Given the description of an element on the screen output the (x, y) to click on. 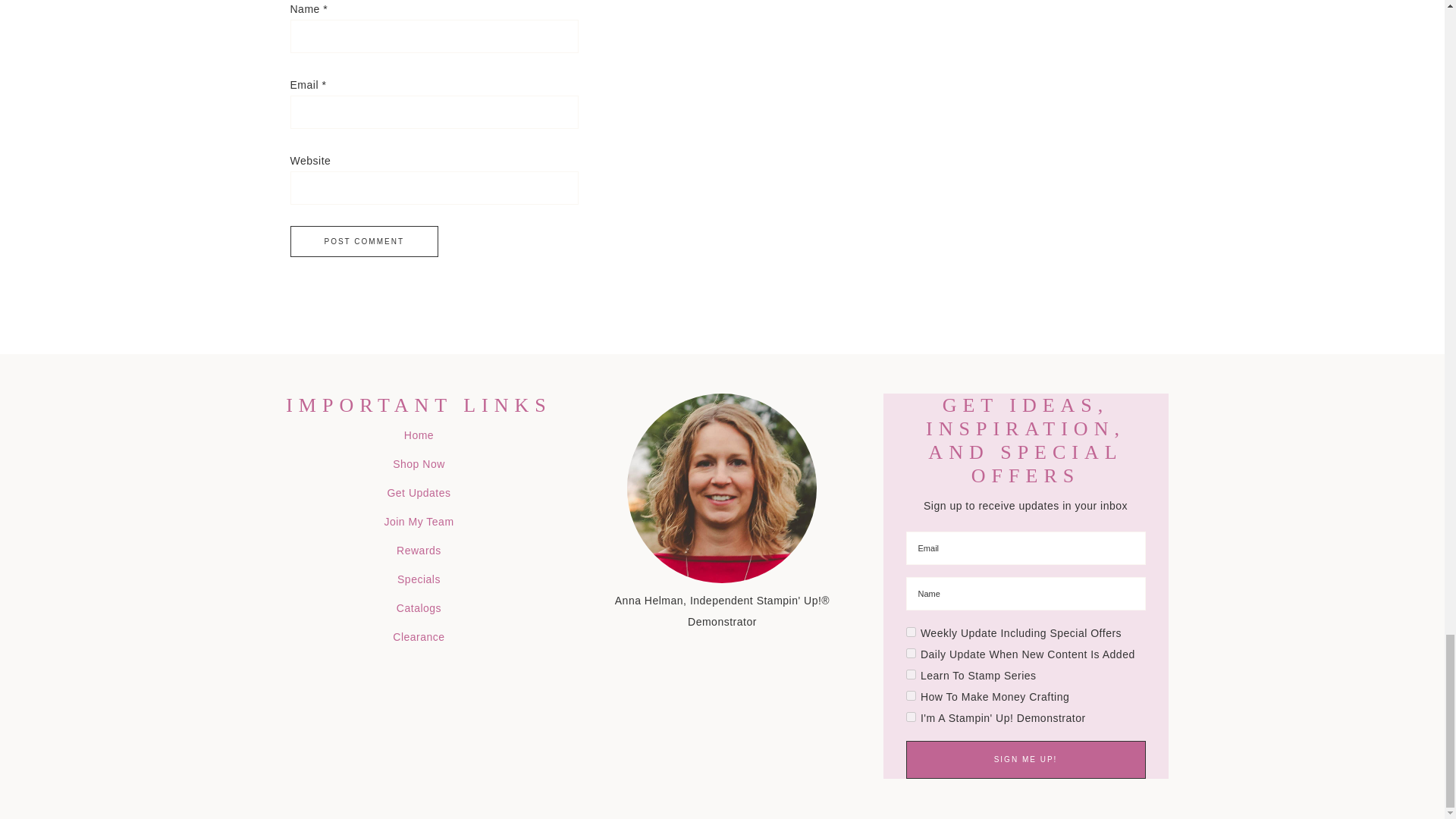
107453458 (910, 696)
107453446 (910, 632)
107453443 (910, 653)
112576372 (910, 716)
Post Comment (363, 241)
107453452 (910, 674)
